Given the description of an element on the screen output the (x, y) to click on. 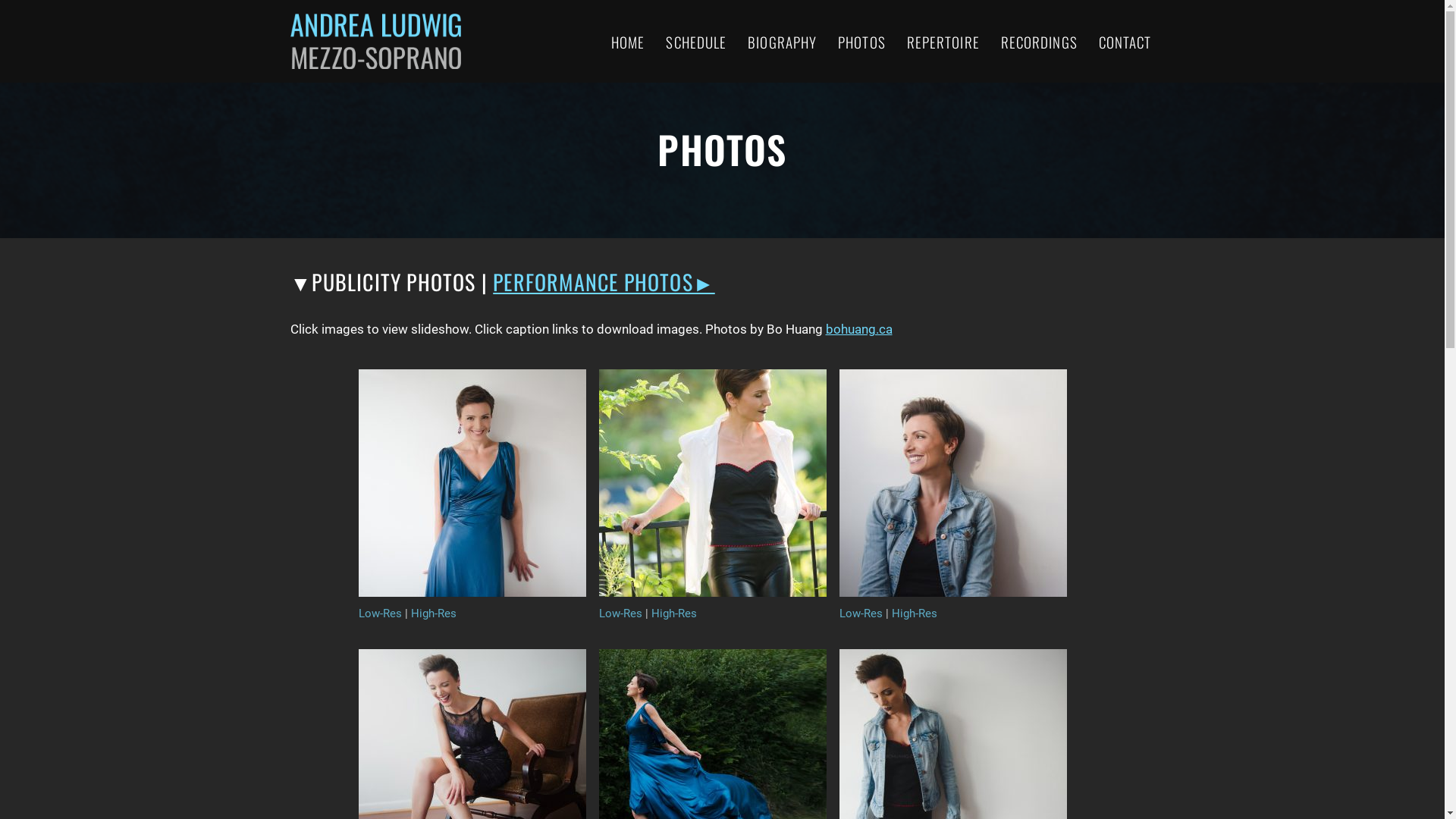
Skip to content Element type: text (11, 31)
Low-Res Element type: text (859, 613)
HOME Element type: text (627, 41)
REPERTOIRE Element type: text (942, 41)
High-Res Element type: text (433, 613)
Low-Res Element type: text (379, 613)
RECORDINGS Element type: text (1039, 41)
PHOTOS Element type: text (861, 41)
Low-Res Element type: text (620, 613)
BIOGRAPHY Element type: text (781, 41)
SCHEDULE Element type: text (695, 41)
High-Res Element type: text (673, 613)
High-Res Element type: text (914, 613)
CONTACT Element type: text (1124, 41)
bohuang.ca Element type: text (858, 328)
